Given the description of an element on the screen output the (x, y) to click on. 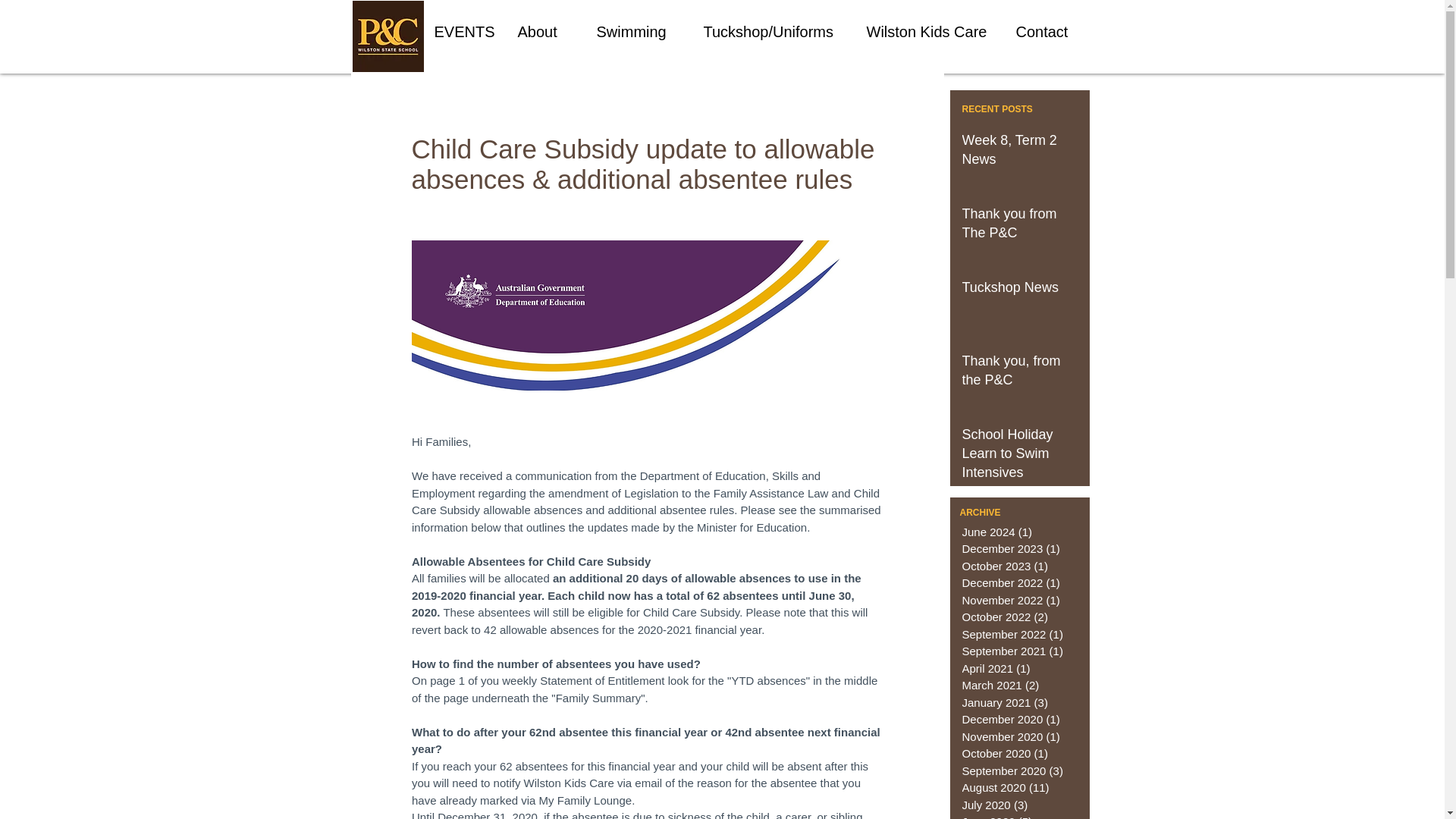
Wilston Kids Care (930, 31)
About (545, 31)
Contact (1048, 31)
EVENTS (464, 31)
Swimming (639, 31)
